Given the description of an element on the screen output the (x, y) to click on. 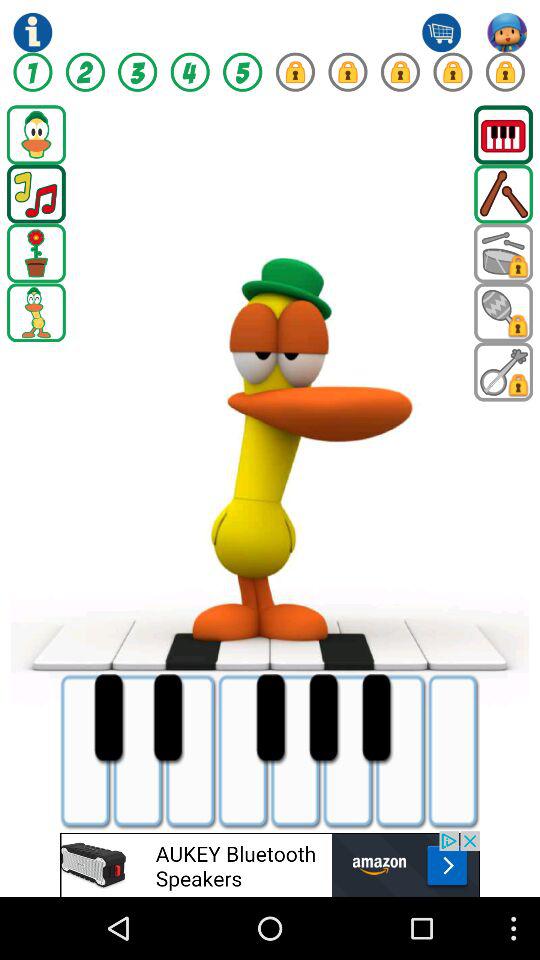
lock option (452, 71)
